Given the description of an element on the screen output the (x, y) to click on. 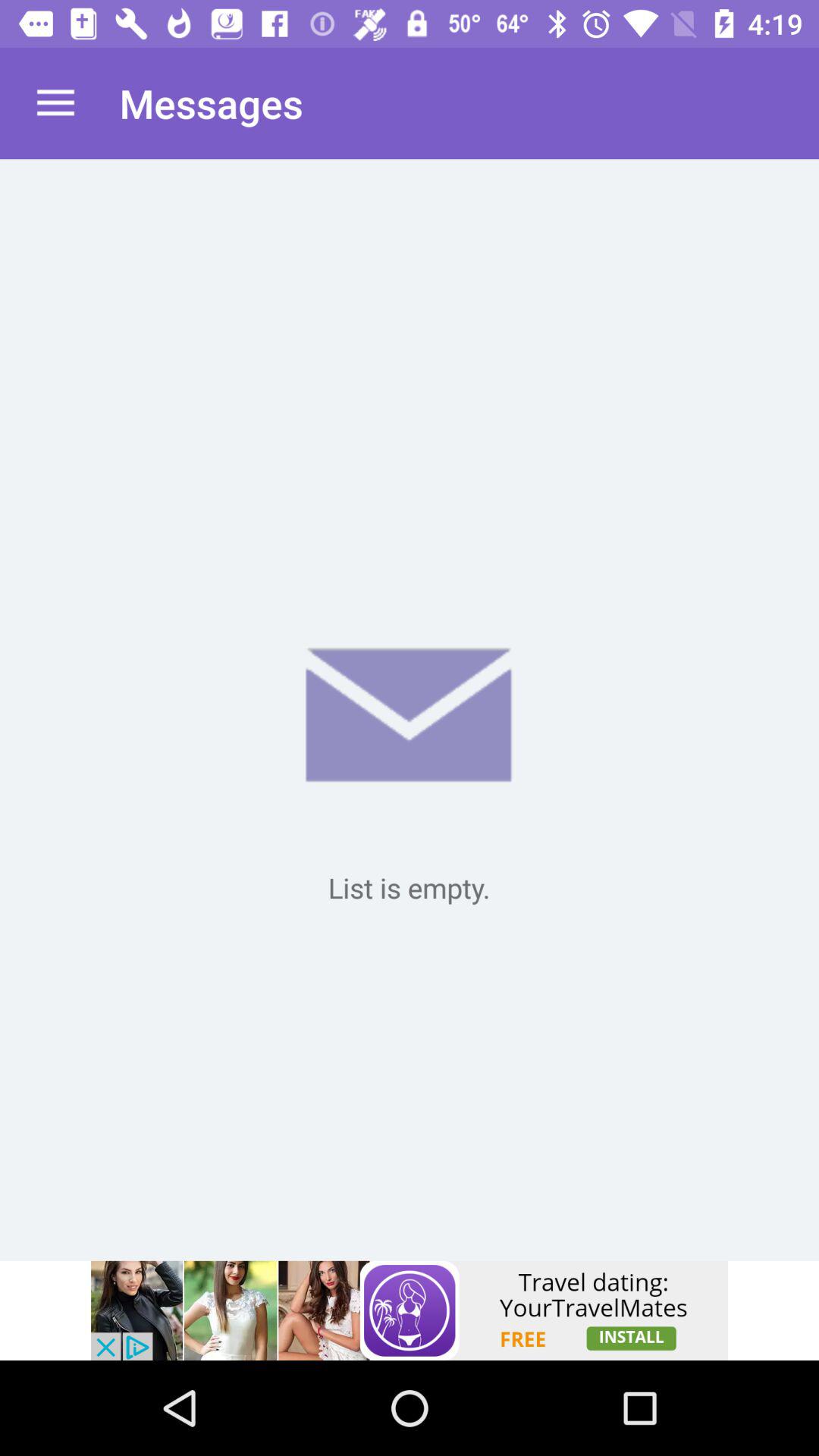
advertisement (409, 1310)
